Given the description of an element on the screen output the (x, y) to click on. 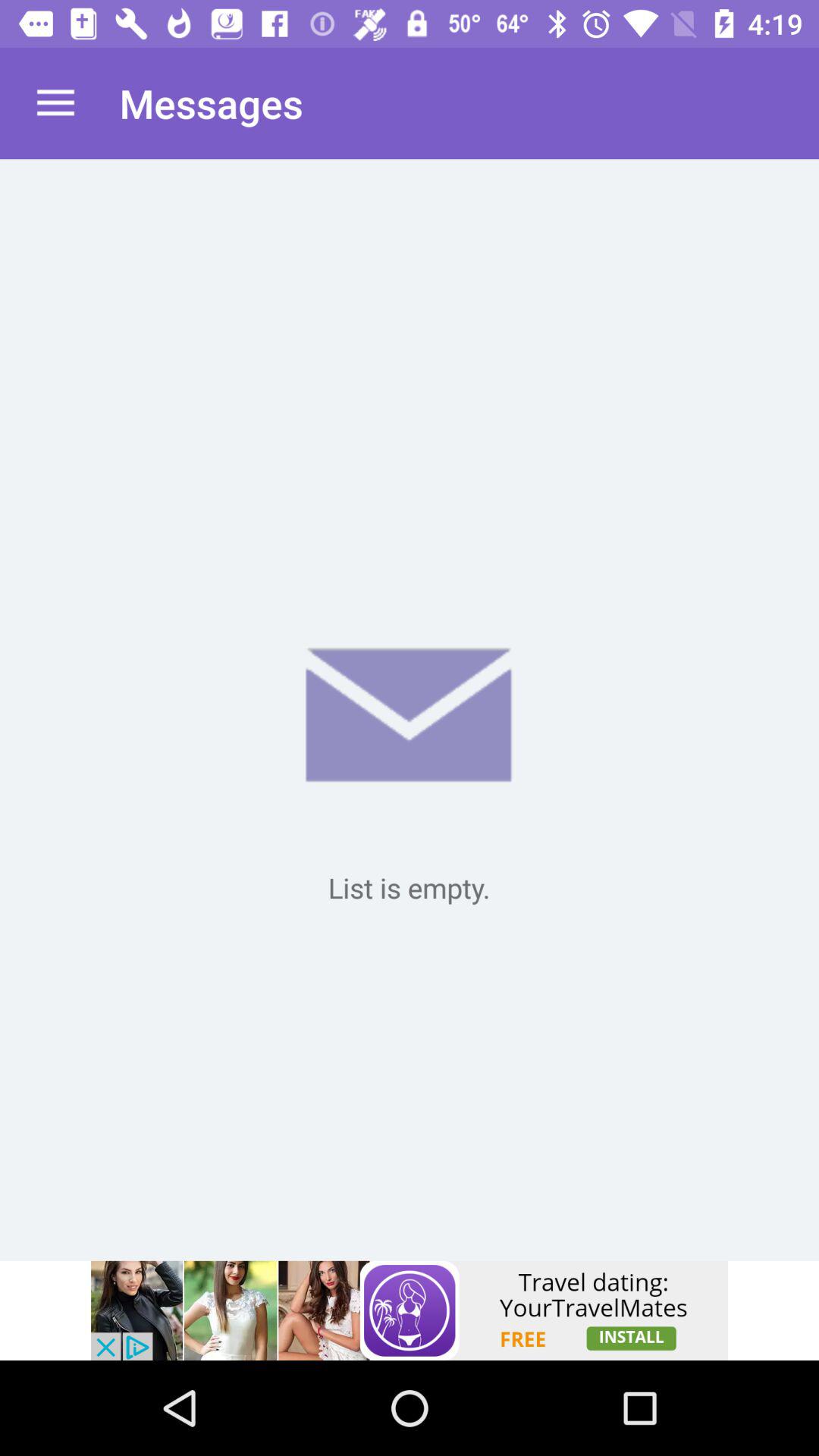
advertisement (409, 1310)
